Given the description of an element on the screen output the (x, y) to click on. 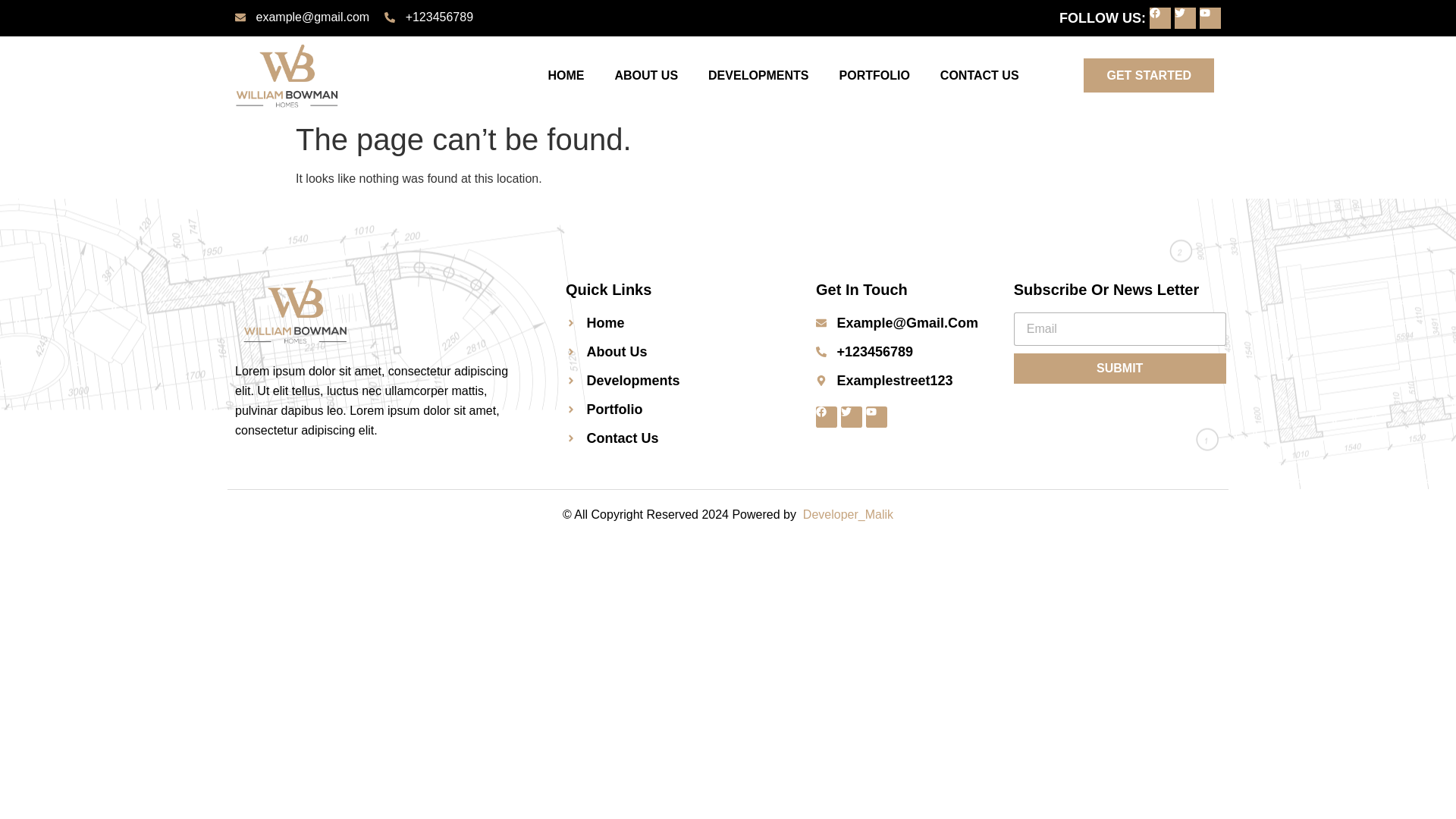
Developments (671, 380)
Portfolio (671, 409)
Home (671, 322)
PORTFOLIO (874, 75)
ABOUT US (645, 75)
SUBMIT (1119, 368)
GET STARTED (1148, 75)
CONTACT US (978, 75)
HOME (565, 75)
About Us (671, 351)
